Given the description of an element on the screen output the (x, y) to click on. 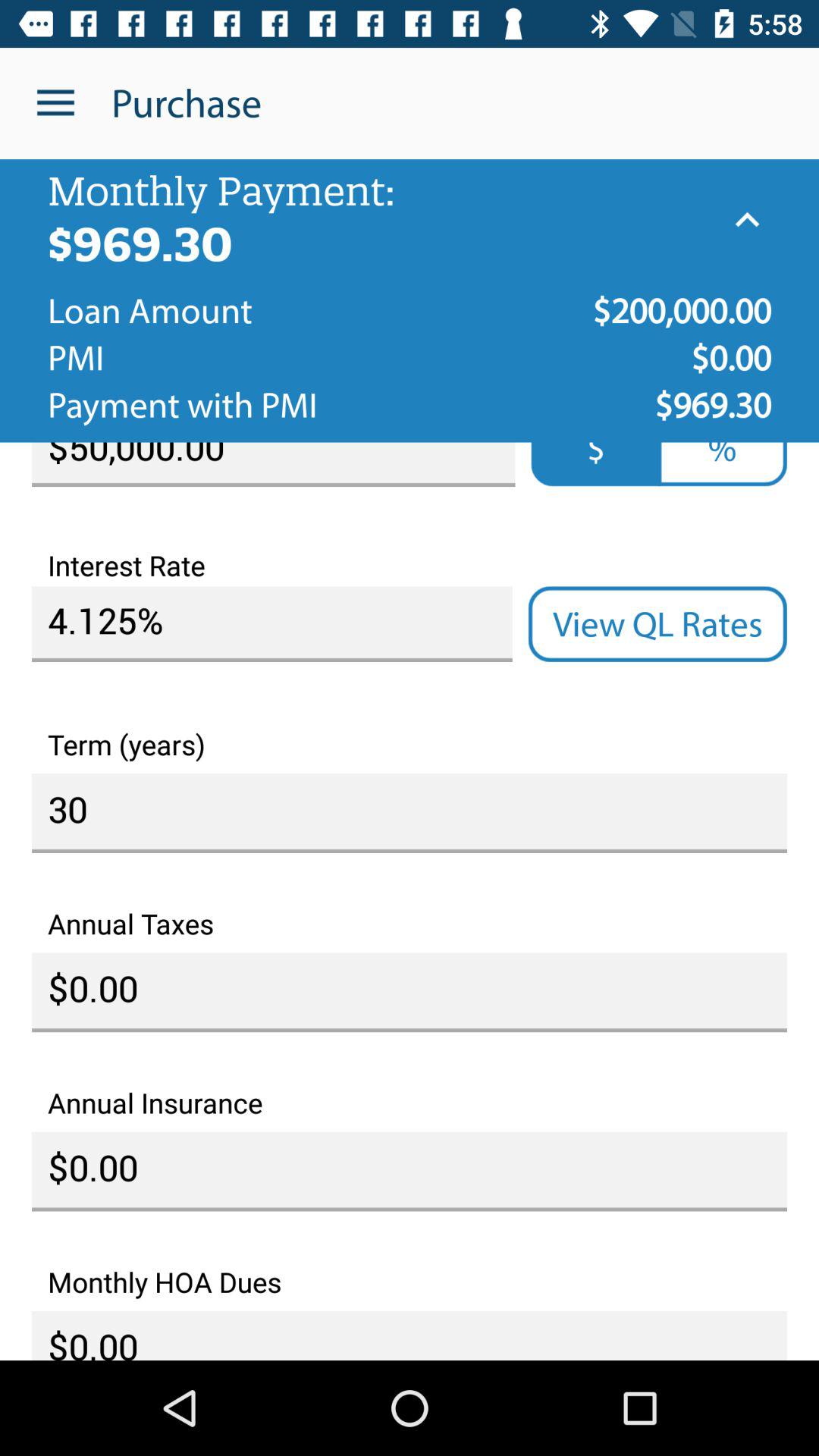
press item to the left of view ql rates item (271, 624)
